Given the description of an element on the screen output the (x, y) to click on. 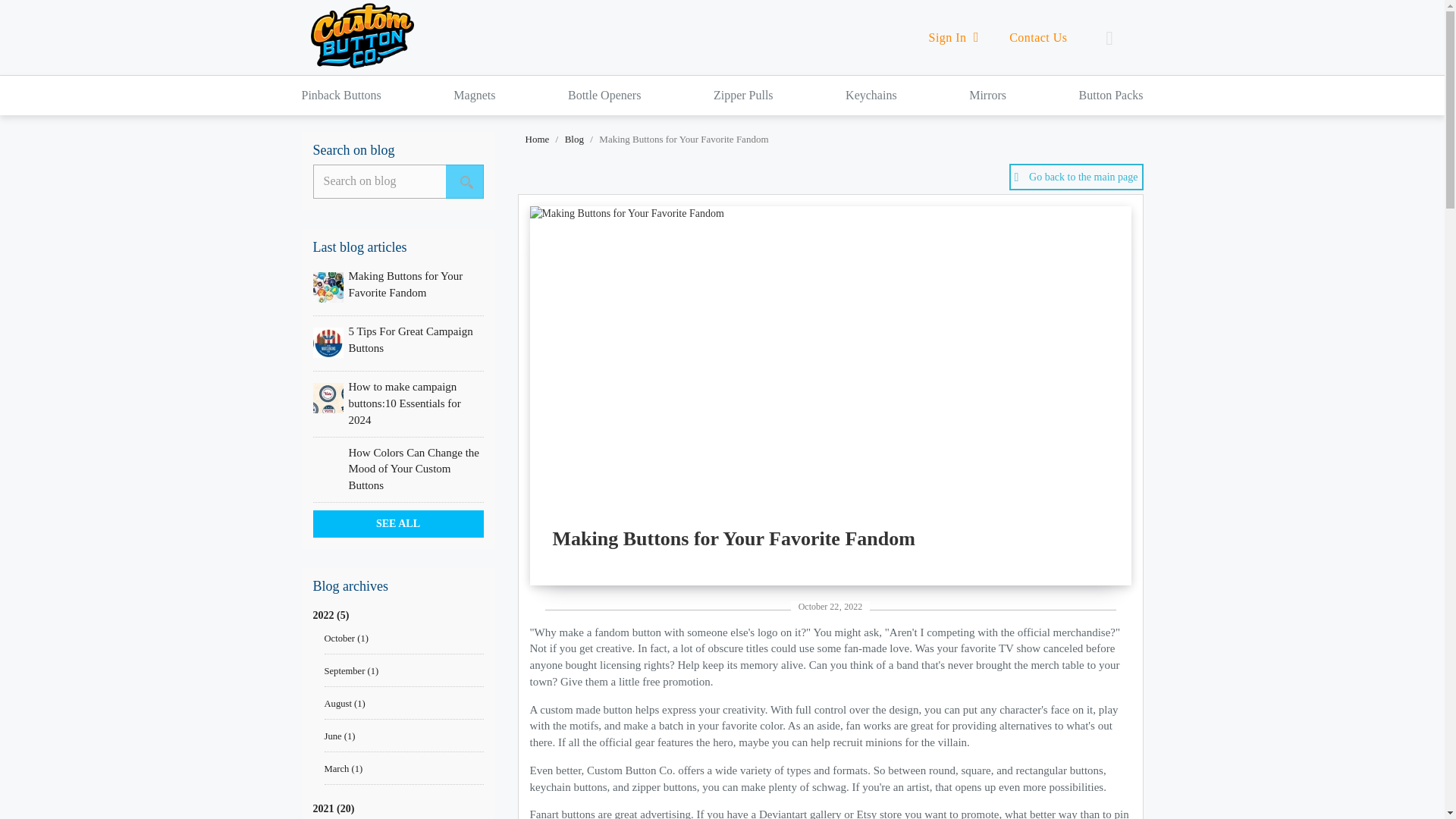
Button Packs (1110, 95)
Log in to your customer account (954, 37)
Zipper Pulls (743, 95)
Bottle Openers (603, 95)
Making Buttons for Your Favorite Fandom (406, 284)
Contact Us (1037, 38)
Sign In (954, 37)
Keychains (870, 95)
5 Tips For Great Campaign Buttons (411, 339)
How Colors Can Change the Mood of Your Custom Buttons (414, 469)
